Given the description of an element on the screen output the (x, y) to click on. 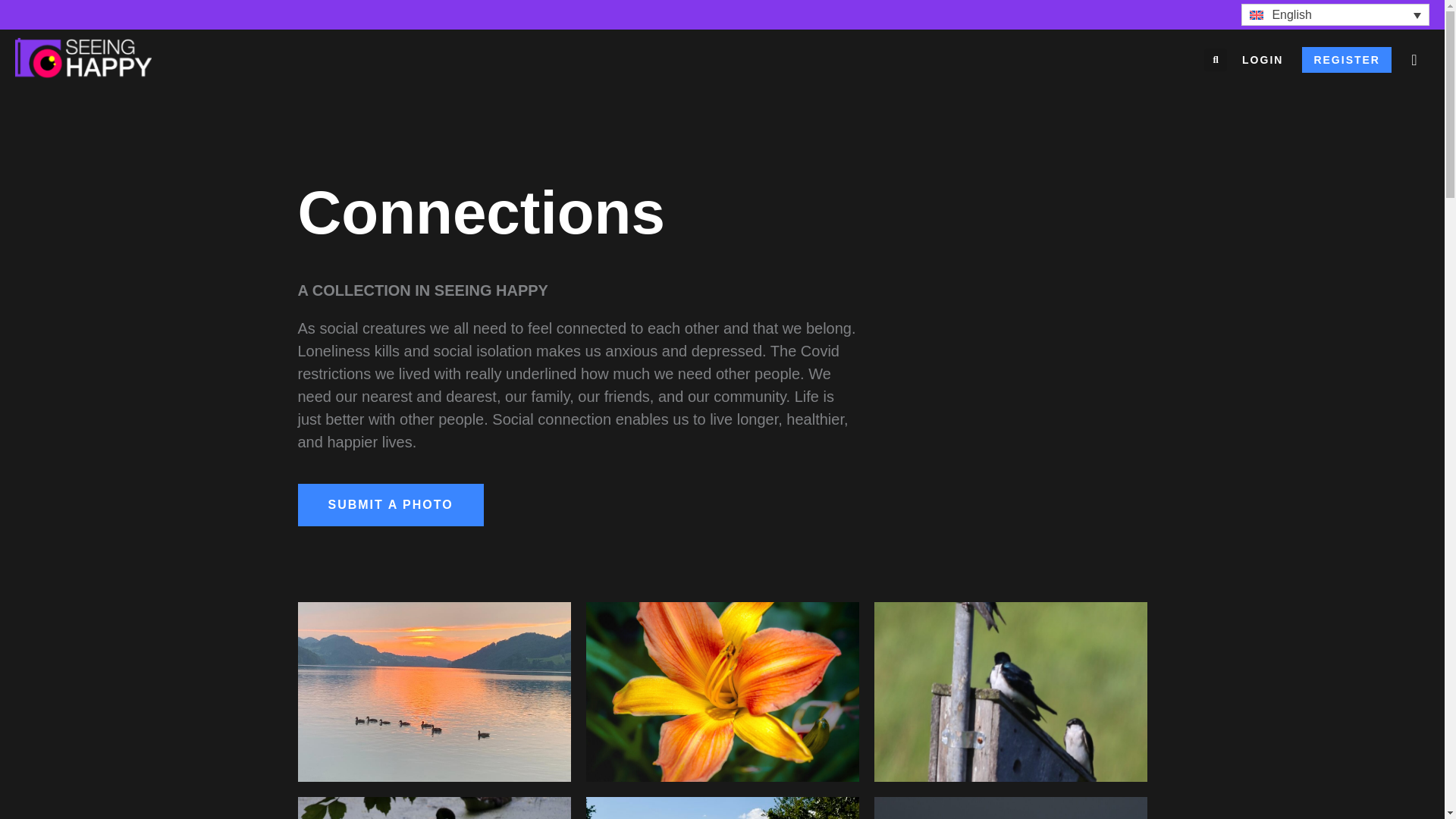
LOGIN (1262, 59)
REGISTER (1346, 59)
English (1335, 14)
SUBMIT A PHOTO (390, 505)
